Given the description of an element on the screen output the (x, y) to click on. 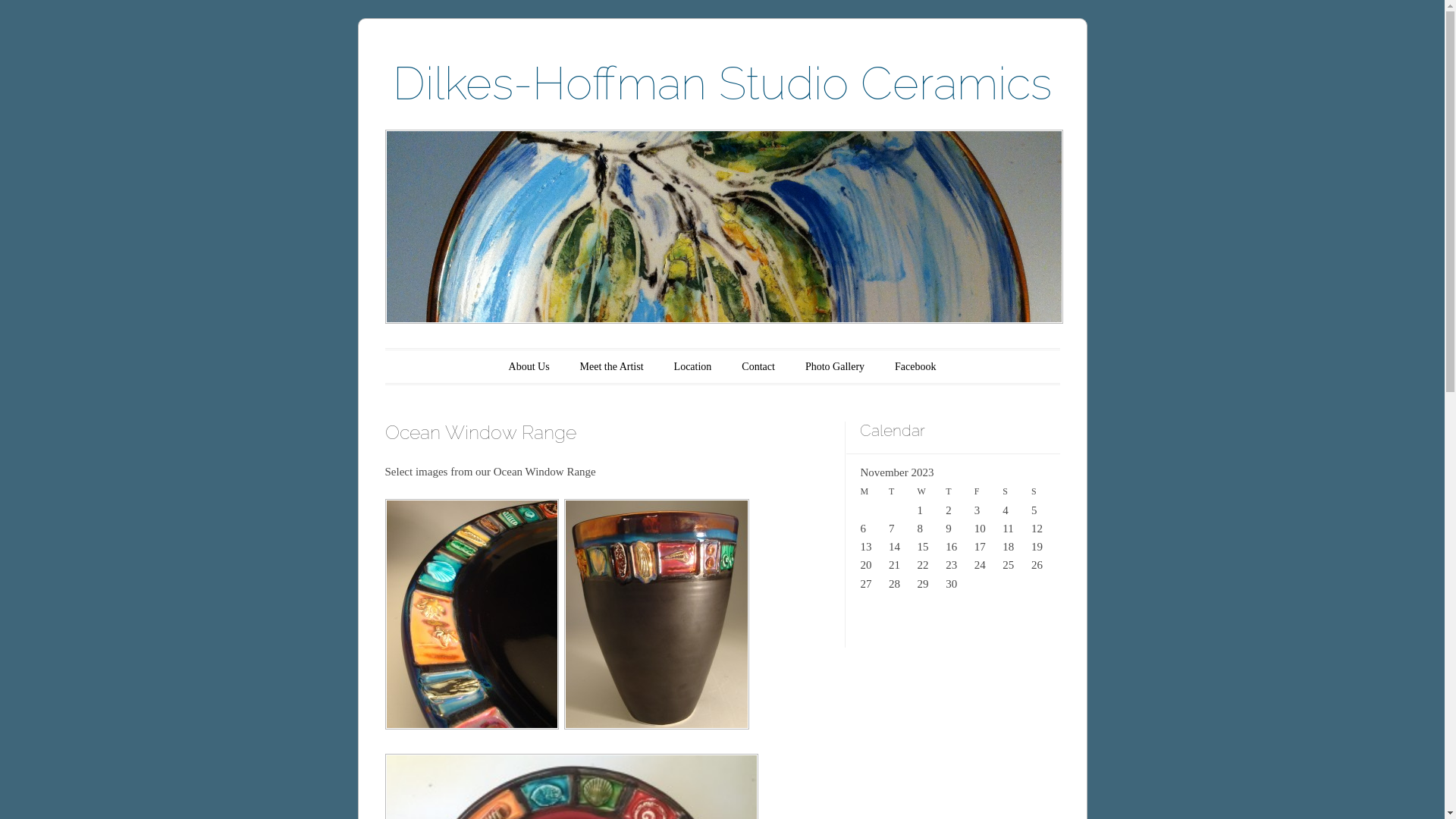
Skip to content Element type: text (434, 366)
Facebook Element type: text (915, 366)
Location Element type: text (692, 366)
Meet the Artist Element type: text (611, 366)
Photo Gallery Element type: text (834, 366)
Contact Element type: text (758, 366)
About Us Element type: text (529, 366)
  Element type: text (473, 725)
Dilkes-Hoffman Studio Ceramics Element type: text (721, 82)
